Given the description of an element on the screen output the (x, y) to click on. 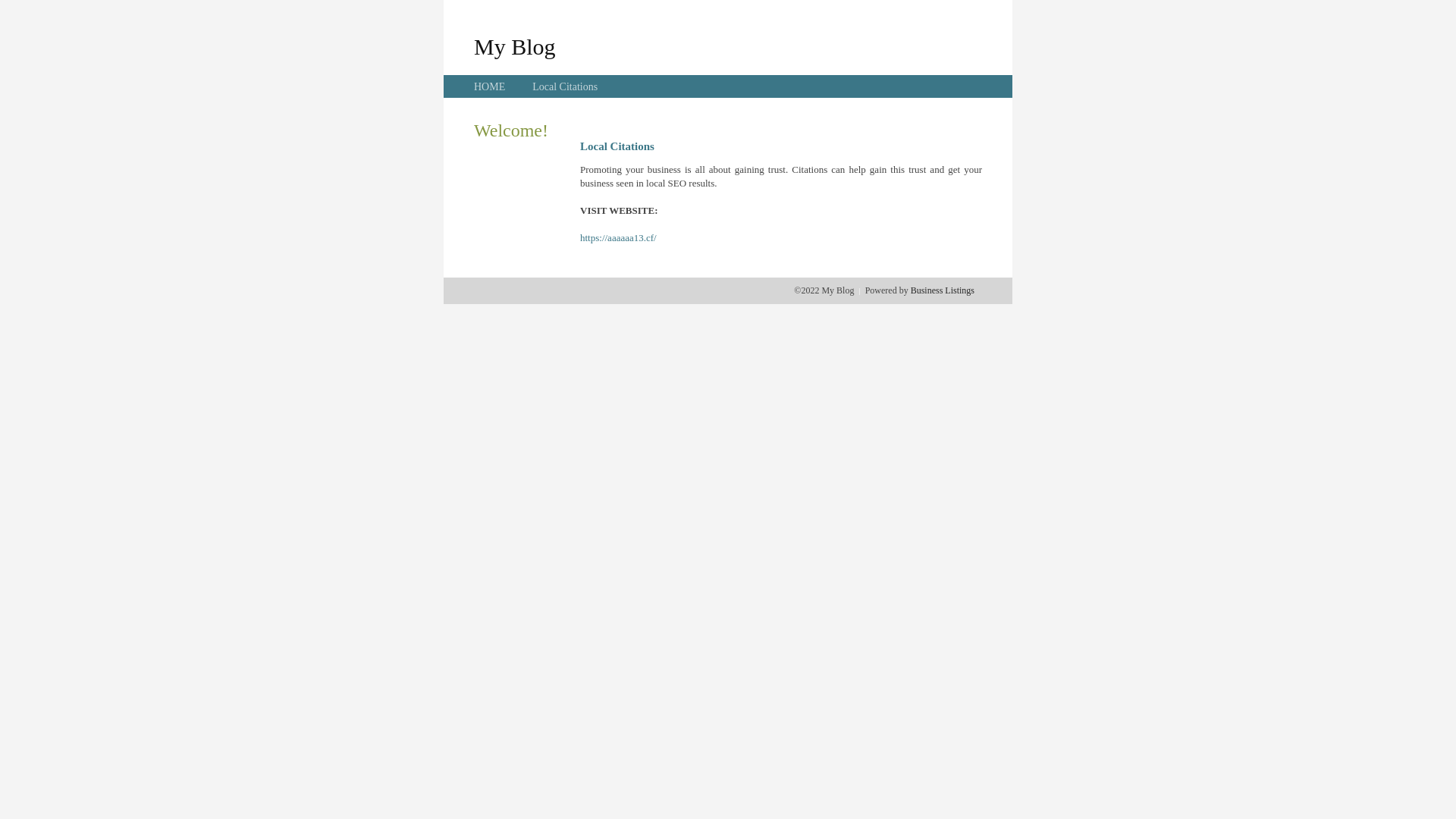
HOME Element type: text (489, 86)
Business Listings Element type: text (942, 290)
My Blog Element type: text (514, 46)
Local Citations Element type: text (564, 86)
https://aaaaaa13.cf/ Element type: text (618, 237)
